Given the description of an element on the screen output the (x, y) to click on. 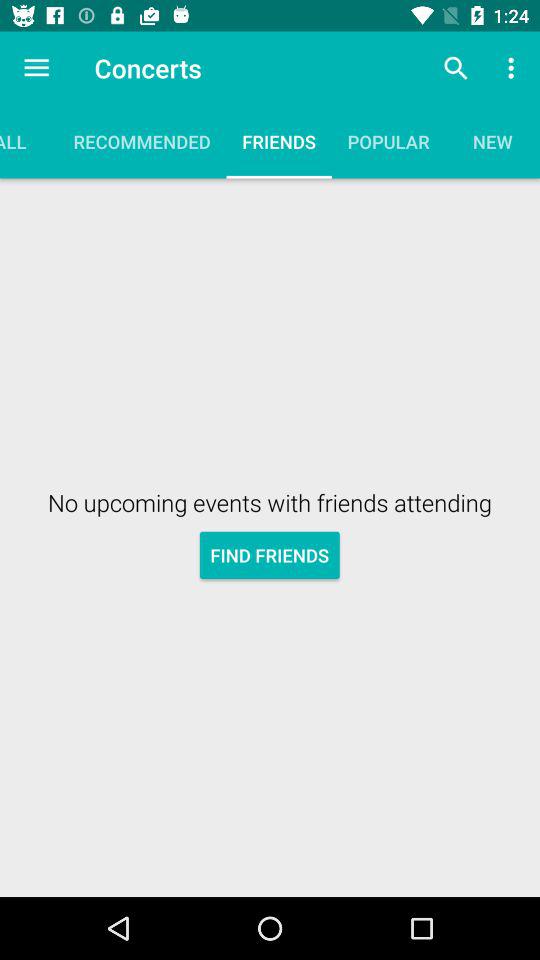
tap find friends item (269, 554)
